Given the description of an element on the screen output the (x, y) to click on. 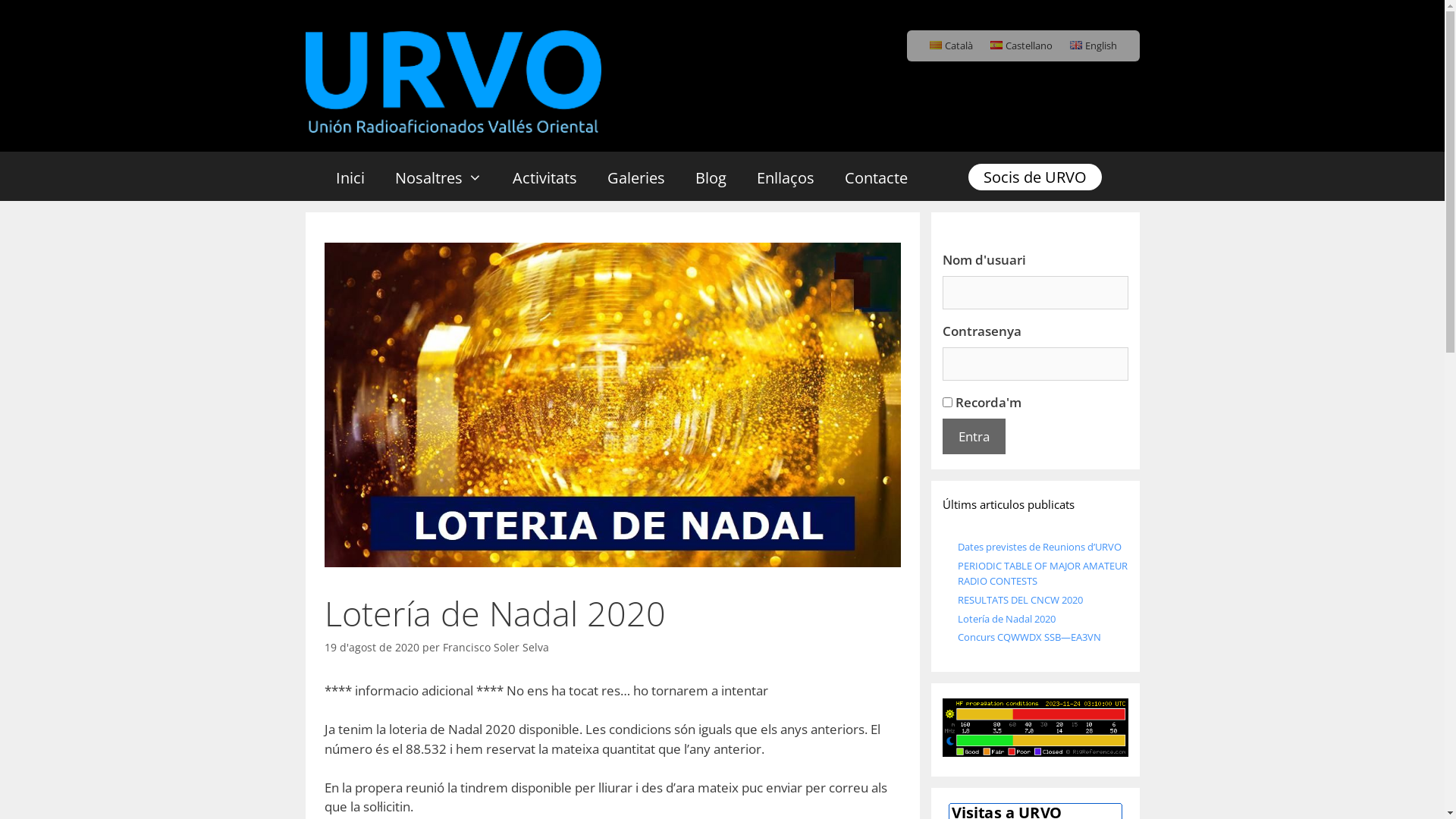
Francisco Soler Selva Element type: text (495, 647)
PERIODIC TABLE OF MAJOR AMATEUR RADIO CONTESTS Element type: text (1041, 572)
Inici Element type: text (349, 177)
Socis de URVO Element type: text (1034, 176)
Entra Element type: text (972, 436)
Castellano Element type: text (1021, 45)
Contacte Element type: text (875, 177)
Nosaltres Element type: text (437, 177)
Blog Element type: text (709, 177)
English Element type: text (1093, 45)
Galeries Element type: text (635, 177)
RESULTATS DEL CNCW 2020 Element type: text (1019, 599)
Activitats Element type: text (544, 177)
